Given the description of an element on the screen output the (x, y) to click on. 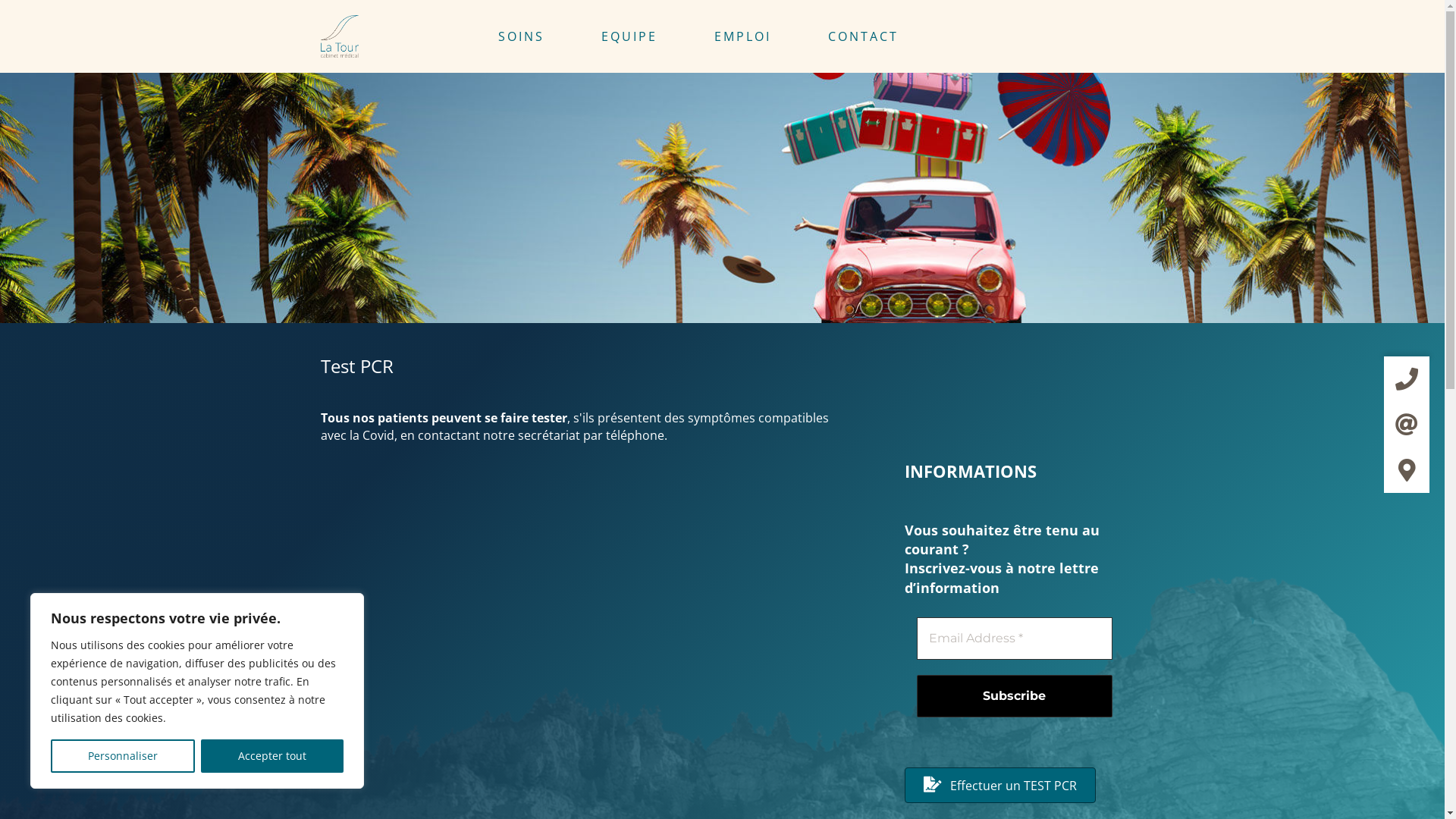
Effectuer un TEST PCR Element type: text (999, 785)
Phone Element type: hover (1406, 378)
Personnaliser Element type: text (122, 755)
email Element type: hover (1406, 424)
SOINS Element type: text (537, 35)
Location Element type: hover (1406, 469)
Subscribe Element type: text (1013, 695)
Email Address Element type: hover (1013, 638)
Accepter tout Element type: text (271, 755)
EMPLOI Element type: text (759, 35)
EQUIPE Element type: text (645, 35)
CONTACT Element type: text (880, 35)
